Given the description of an element on the screen output the (x, y) to click on. 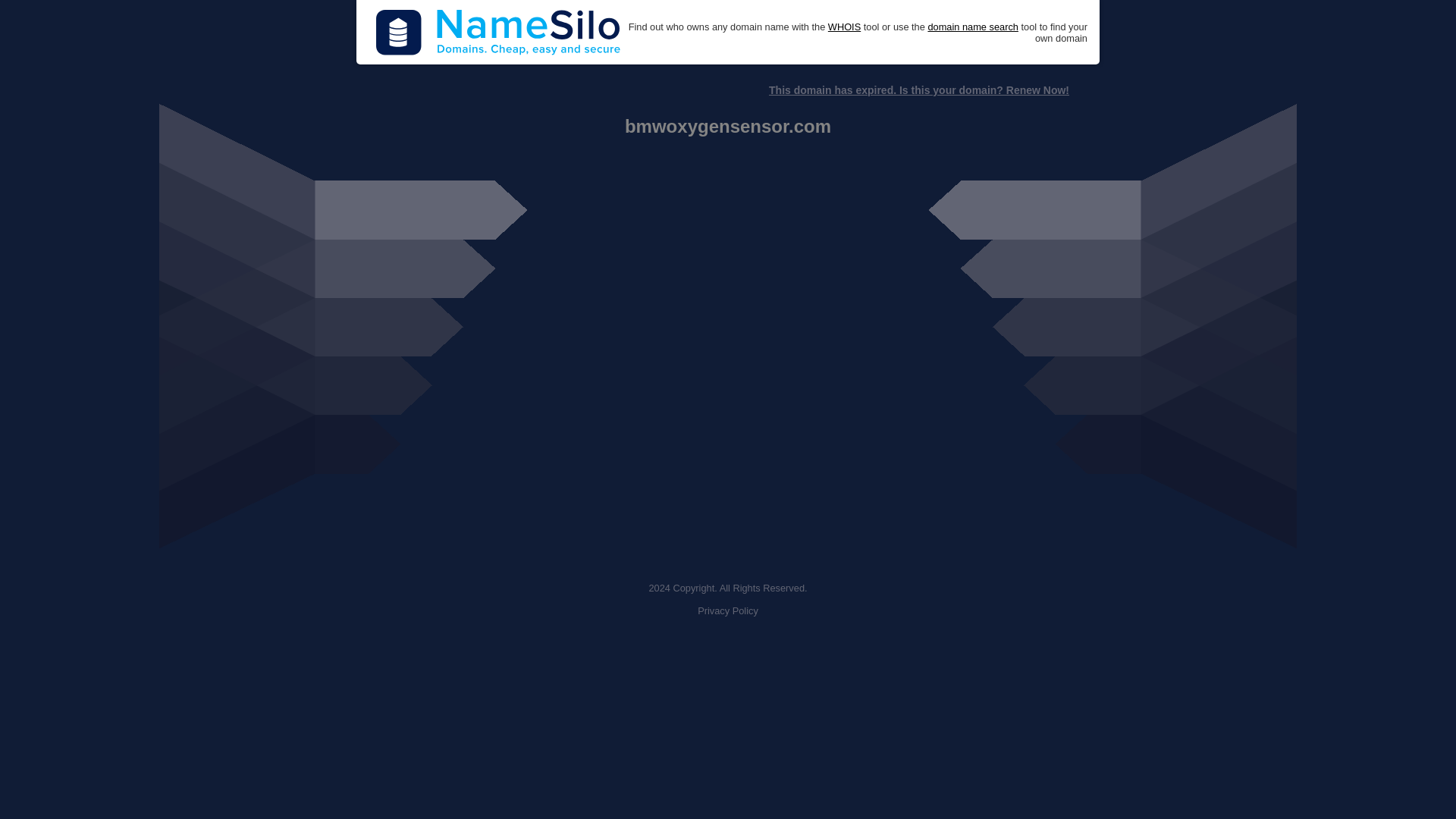
domain name search (972, 26)
Privacy Policy (727, 610)
WHOIS (844, 26)
This domain has expired. Is this your domain? Renew Now! (918, 90)
